Given the description of an element on the screen output the (x, y) to click on. 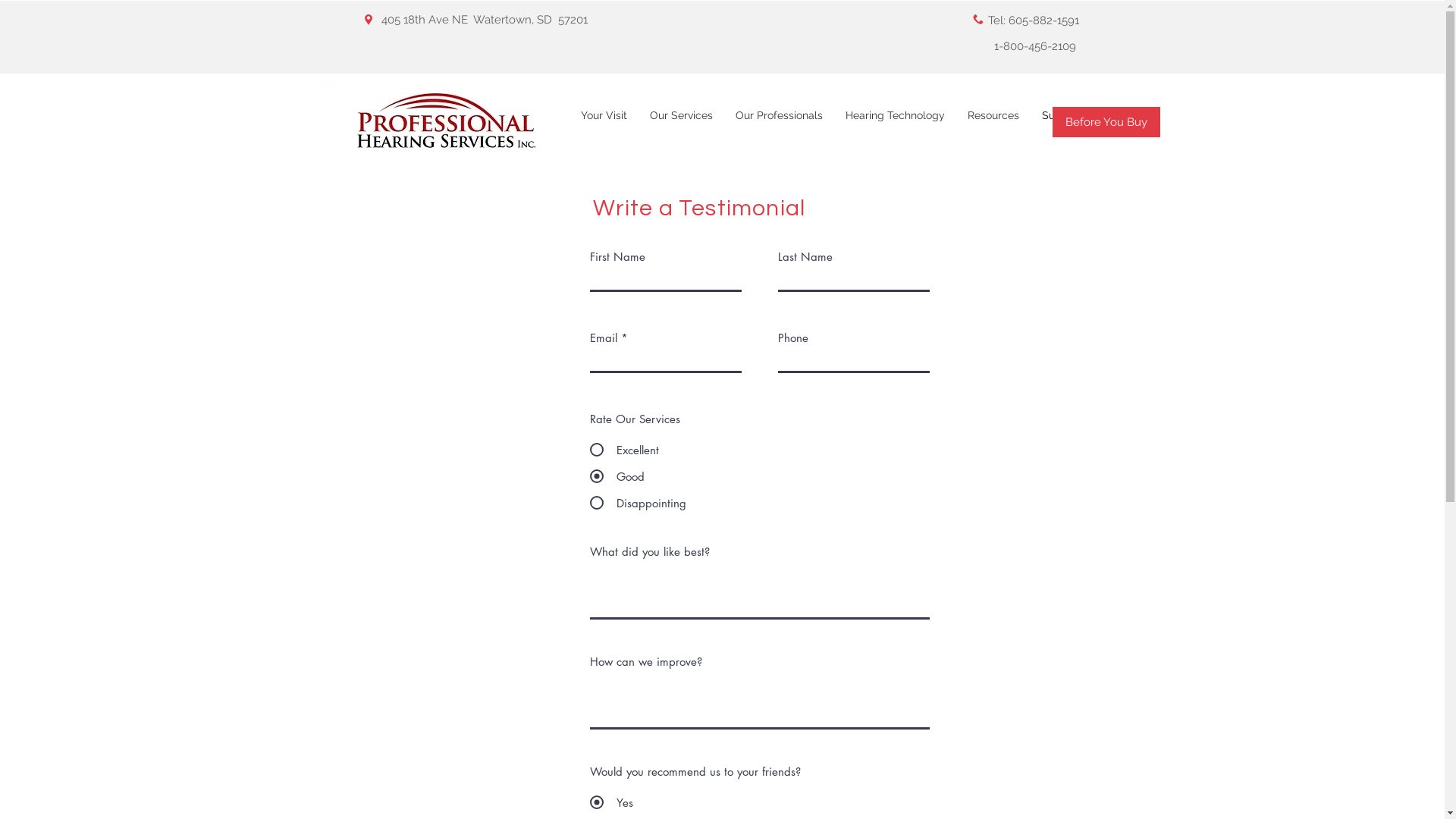
Success Stories Element type: text (1080, 122)
Your Visit Element type: text (602, 122)
Before You Buy Element type: text (1106, 121)
Our Professionals Element type: text (778, 122)
Our Services Element type: text (681, 122)
Hearing Technology Element type: text (895, 122)
Resources Element type: text (992, 122)
